Given the description of an element on the screen output the (x, y) to click on. 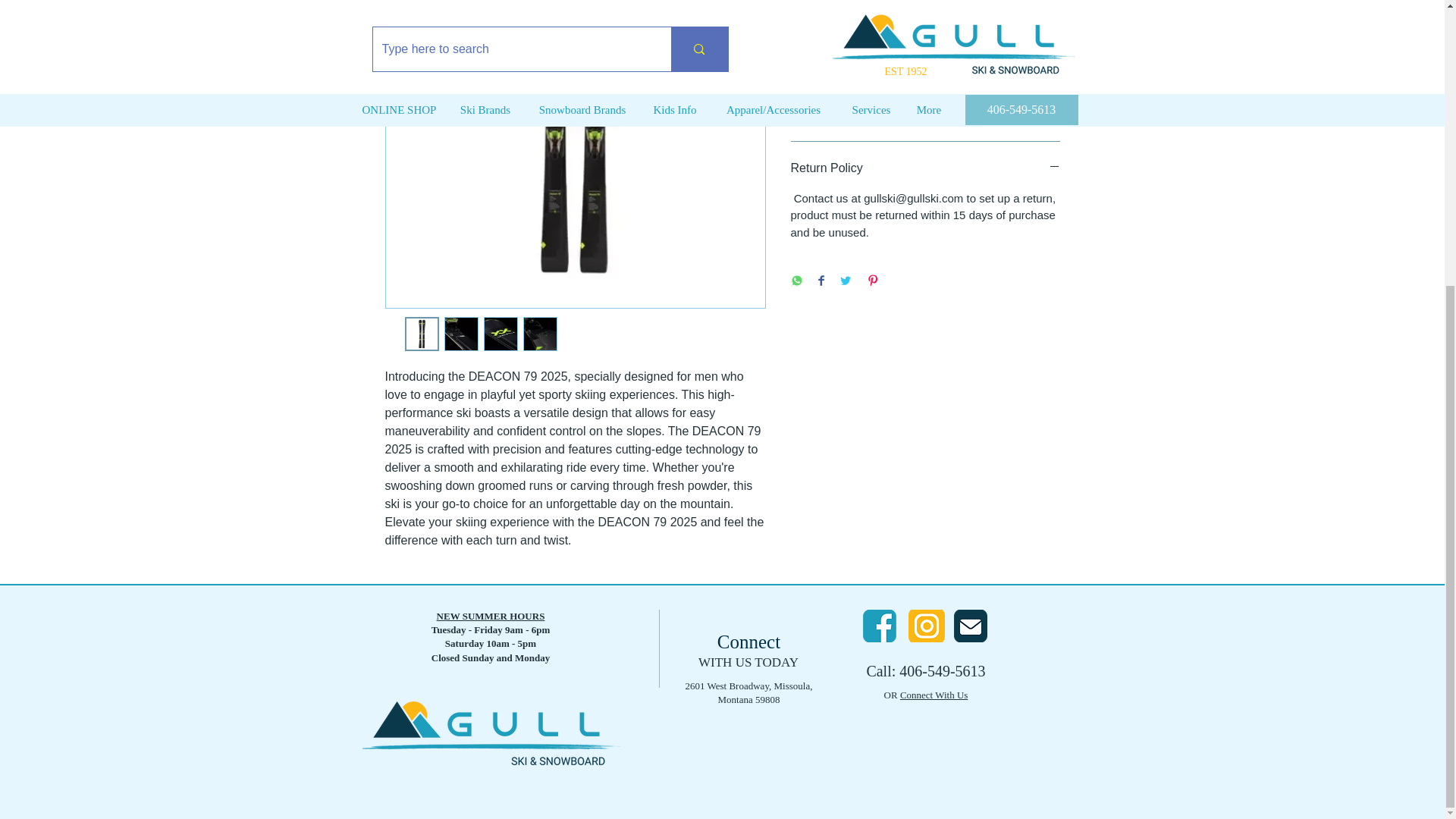
System (924, 84)
Add to Cart (924, 24)
2601 West Broadway, Missoula, Montana 59808 (748, 692)
Return Policy (924, 167)
